Given the description of an element on the screen output the (x, y) to click on. 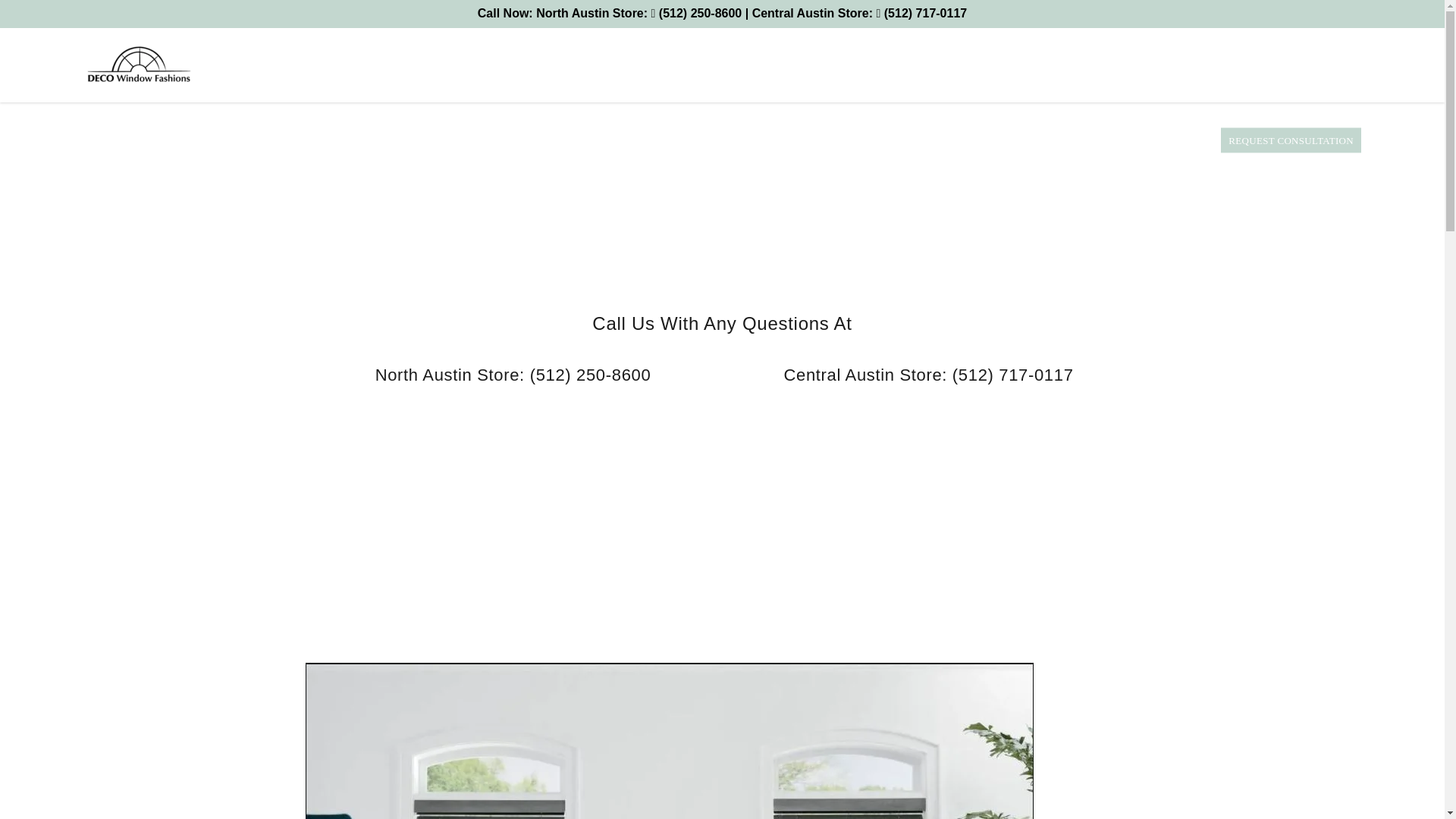
TESTIMONIALS (1087, 140)
PROMOTIONS (1171, 140)
REQUEST CONSULTATION (1290, 140)
